Given the description of an element on the screen output the (x, y) to click on. 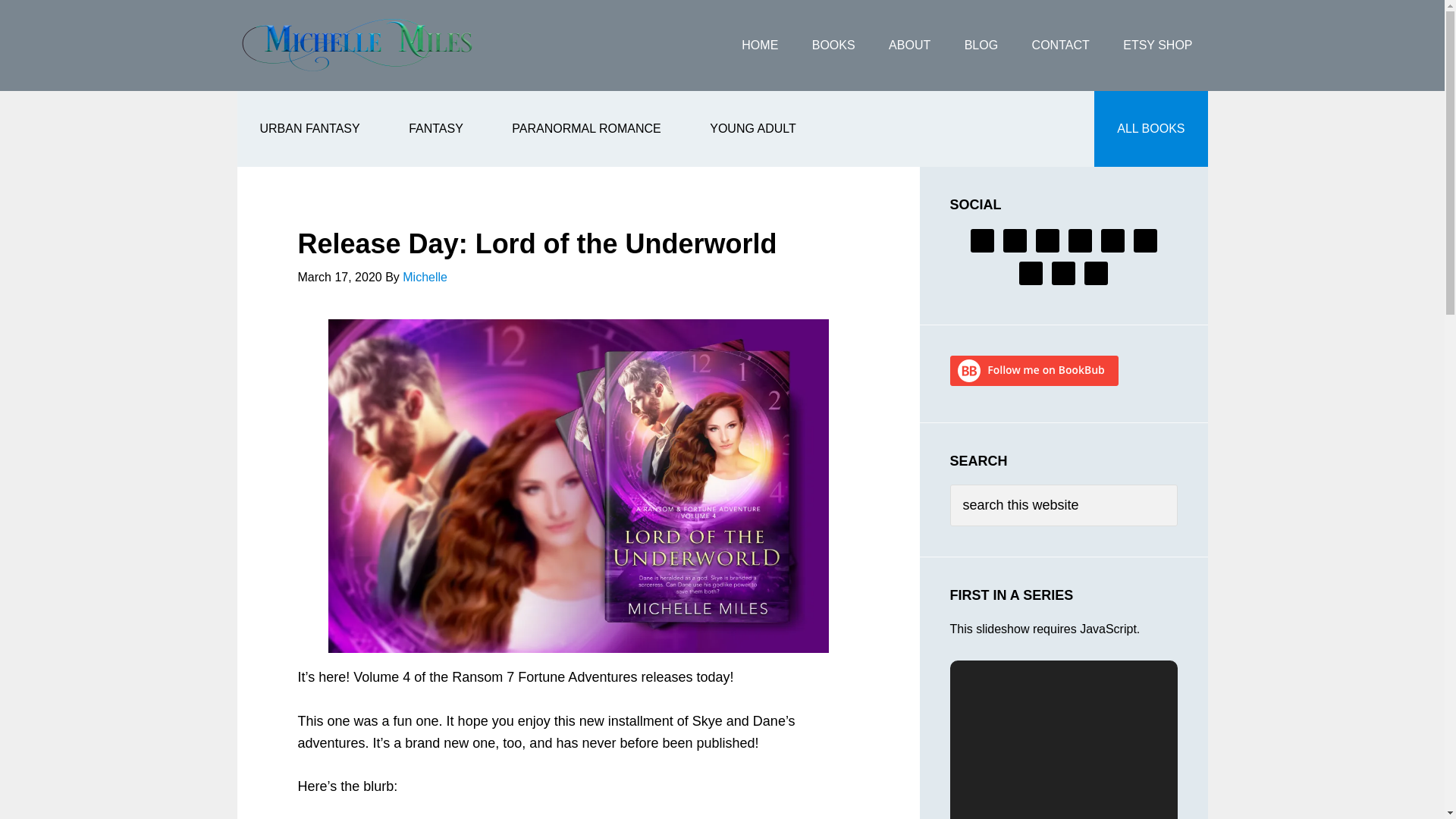
ALL BOOKS (1150, 128)
YOUNG ADULT (752, 128)
PARANORMAL ROMANCE (585, 128)
FANTASY (435, 128)
URBAN FANTASY (308, 128)
Michelle Miles Author (357, 45)
CONTACT (1060, 45)
Michelle (424, 277)
